Given the description of an element on the screen output the (x, y) to click on. 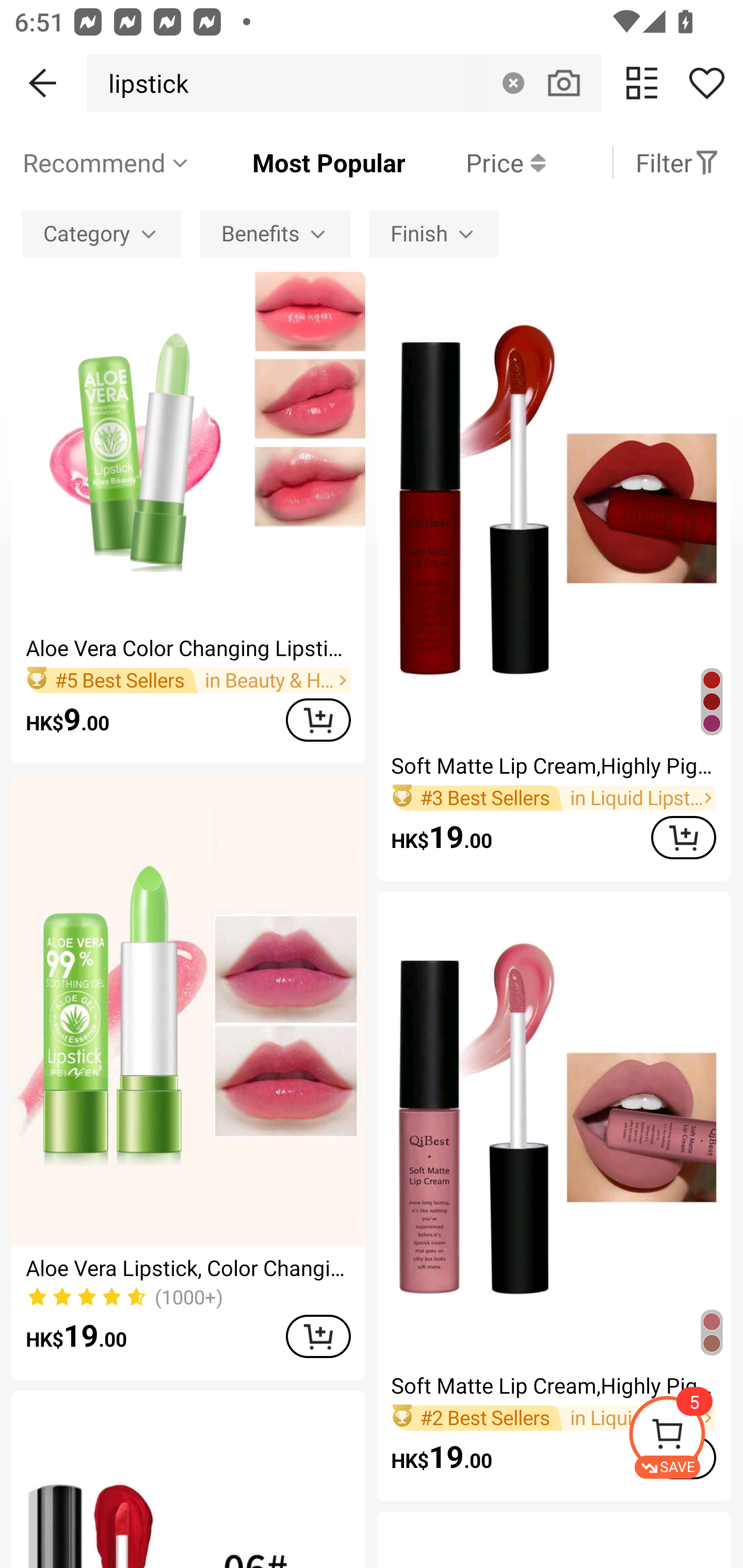
lipstick Clear (343, 82)
lipstick (142, 82)
Clear (513, 82)
change view (641, 82)
Share (706, 82)
Recommend (106, 162)
Most Popular (297, 162)
Price (474, 162)
Filter (677, 162)
Category (101, 233)
Benefits (274, 233)
Finish (433, 233)
#5 Best Sellers in Beauty & Health (188, 680)
ADD TO CART (318, 719)
#3 Best Sellers in Liquid Lipstick (553, 798)
ADD TO CART (683, 837)
ADD TO CART (318, 1335)
SAVE (685, 1436)
